Given the description of an element on the screen output the (x, y) to click on. 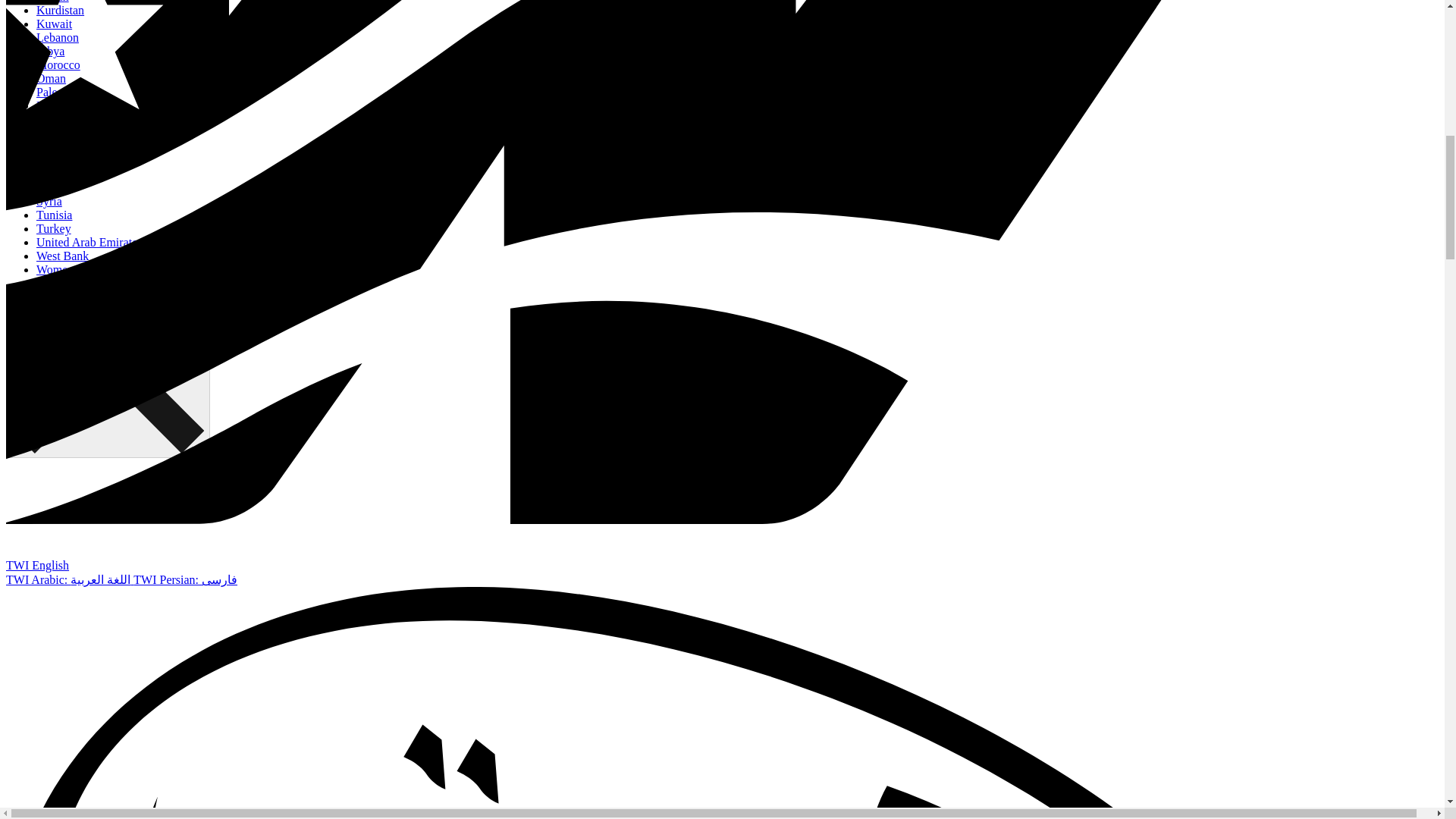
Jordan (52, 1)
Lebanon (57, 37)
Libya (50, 51)
Kuwait (53, 23)
Palestinians (65, 91)
Oman (50, 78)
Parliaments (65, 105)
Kurdistan (60, 10)
Morocco (58, 64)
